Given the description of an element on the screen output the (x, y) to click on. 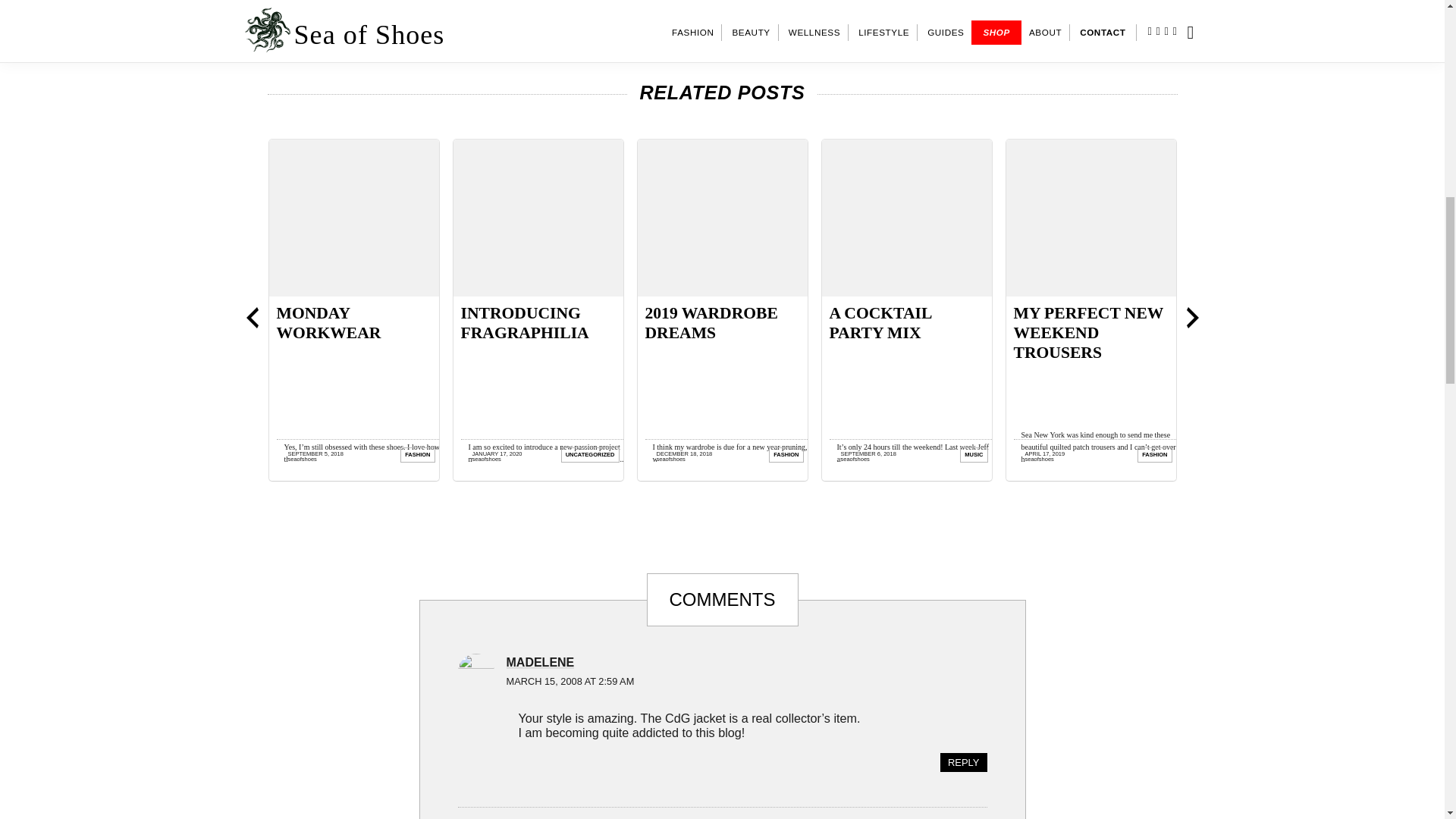
Click to share on Twitter (1023, 18)
Click to share on Pinterest (1051, 18)
Click to share on Facebook (996, 18)
Click to email a link to a friend (1078, 18)
